Given the description of an element on the screen output the (x, y) to click on. 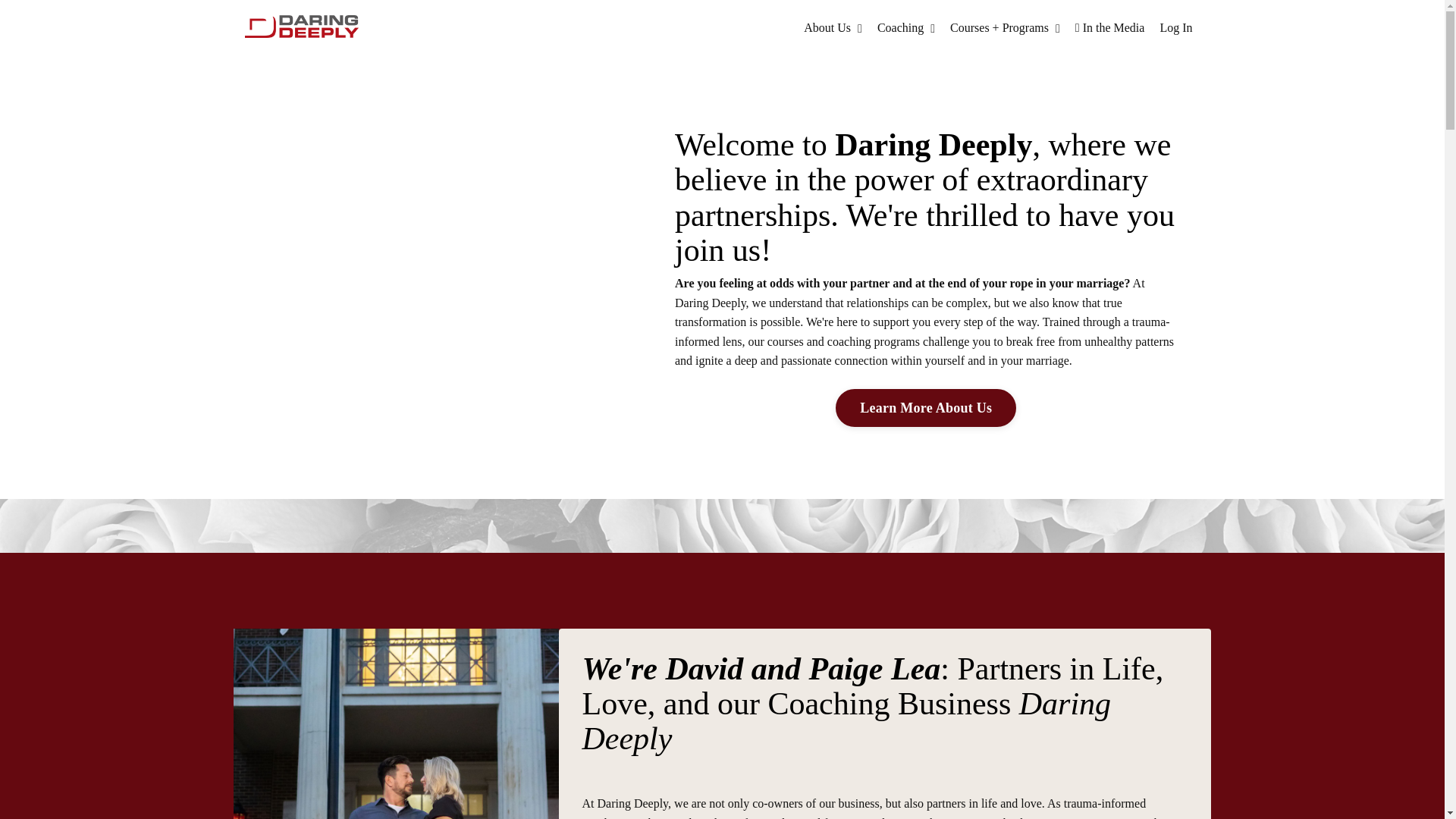
Log In (1175, 27)
About Us (832, 27)
Coaching (905, 27)
Learn More About Us (925, 407)
